Given the description of an element on the screen output the (x, y) to click on. 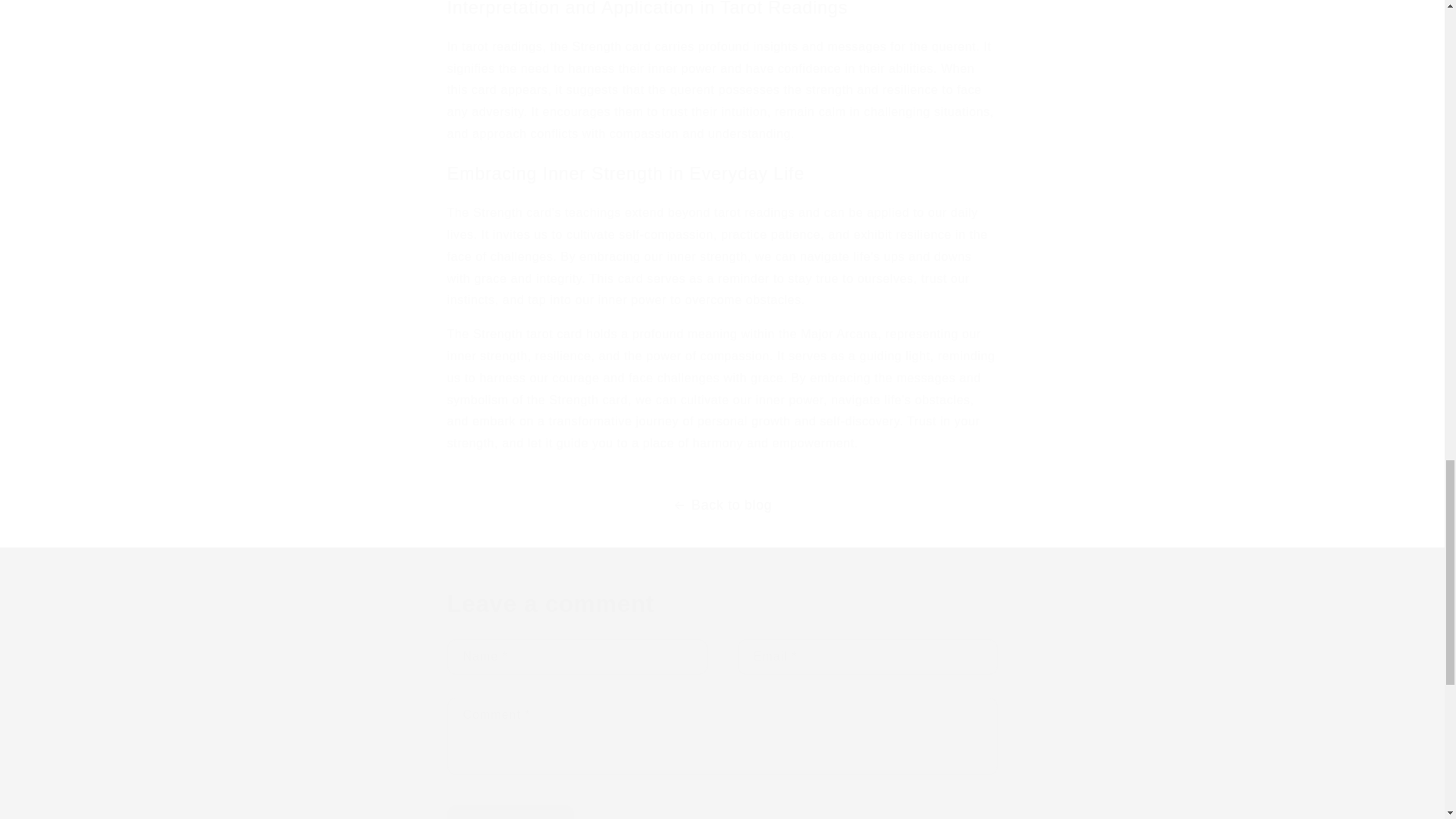
Post comment (510, 812)
